Given the description of an element on the screen output the (x, y) to click on. 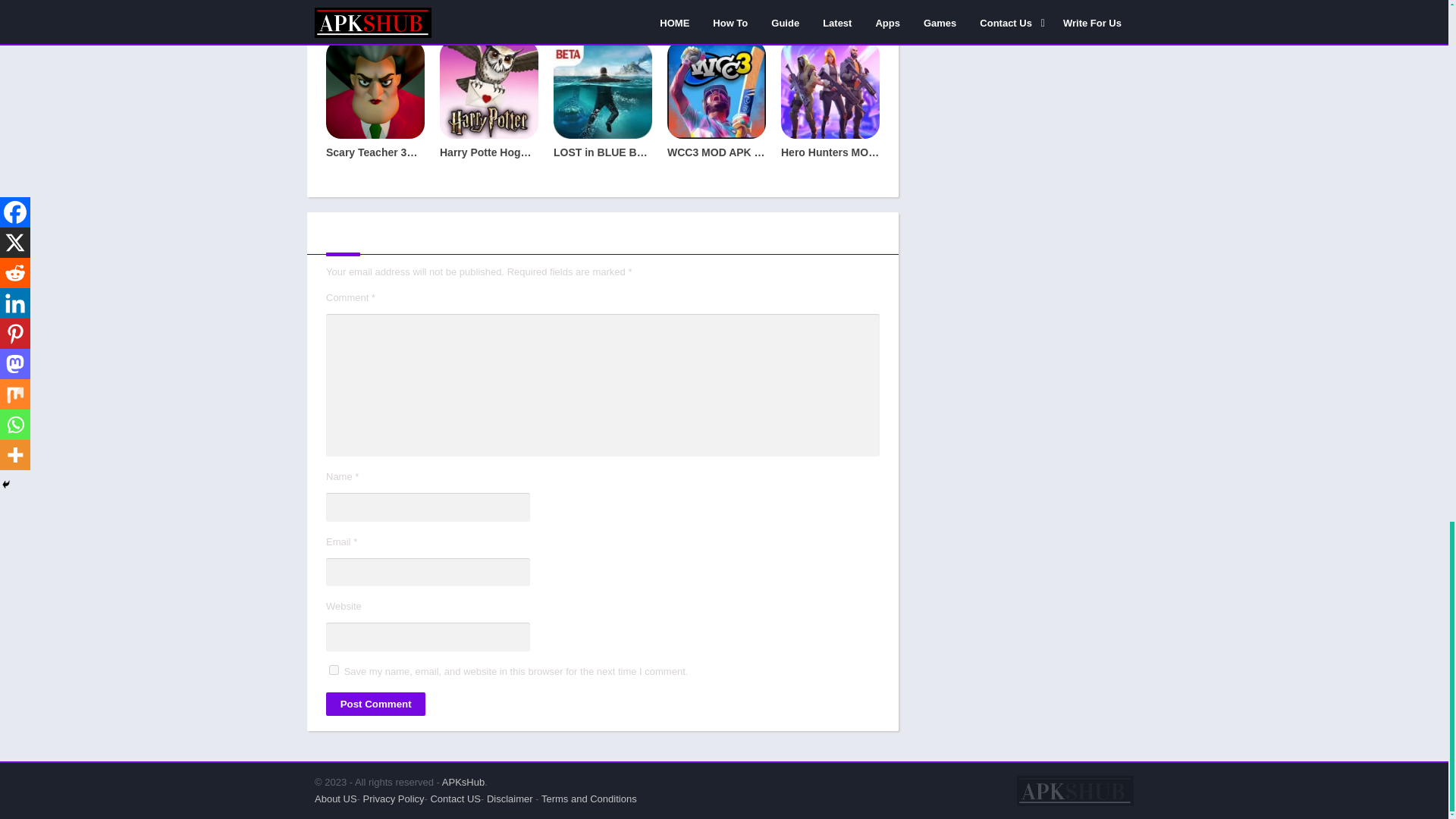
Post Comment (375, 703)
yes (334, 669)
